Given the description of an element on the screen output the (x, y) to click on. 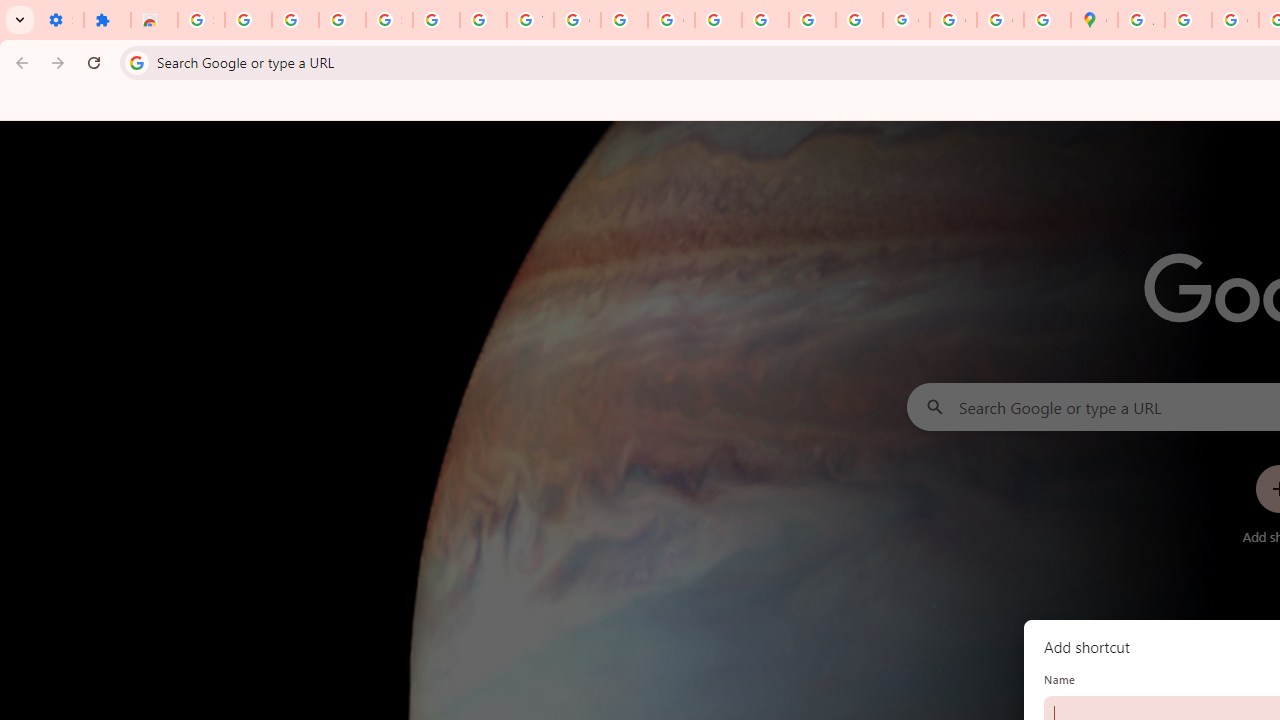
Reviews: Helix Fruit Jump Arcade Game (153, 20)
YouTube (530, 20)
Privacy Help Center - Policies Help (718, 20)
Sign in - Google Accounts (201, 20)
Create your Google Account (1235, 20)
Delete photos & videos - Computer - Google Photos Help (248, 20)
